Given the description of an element on the screen output the (x, y) to click on. 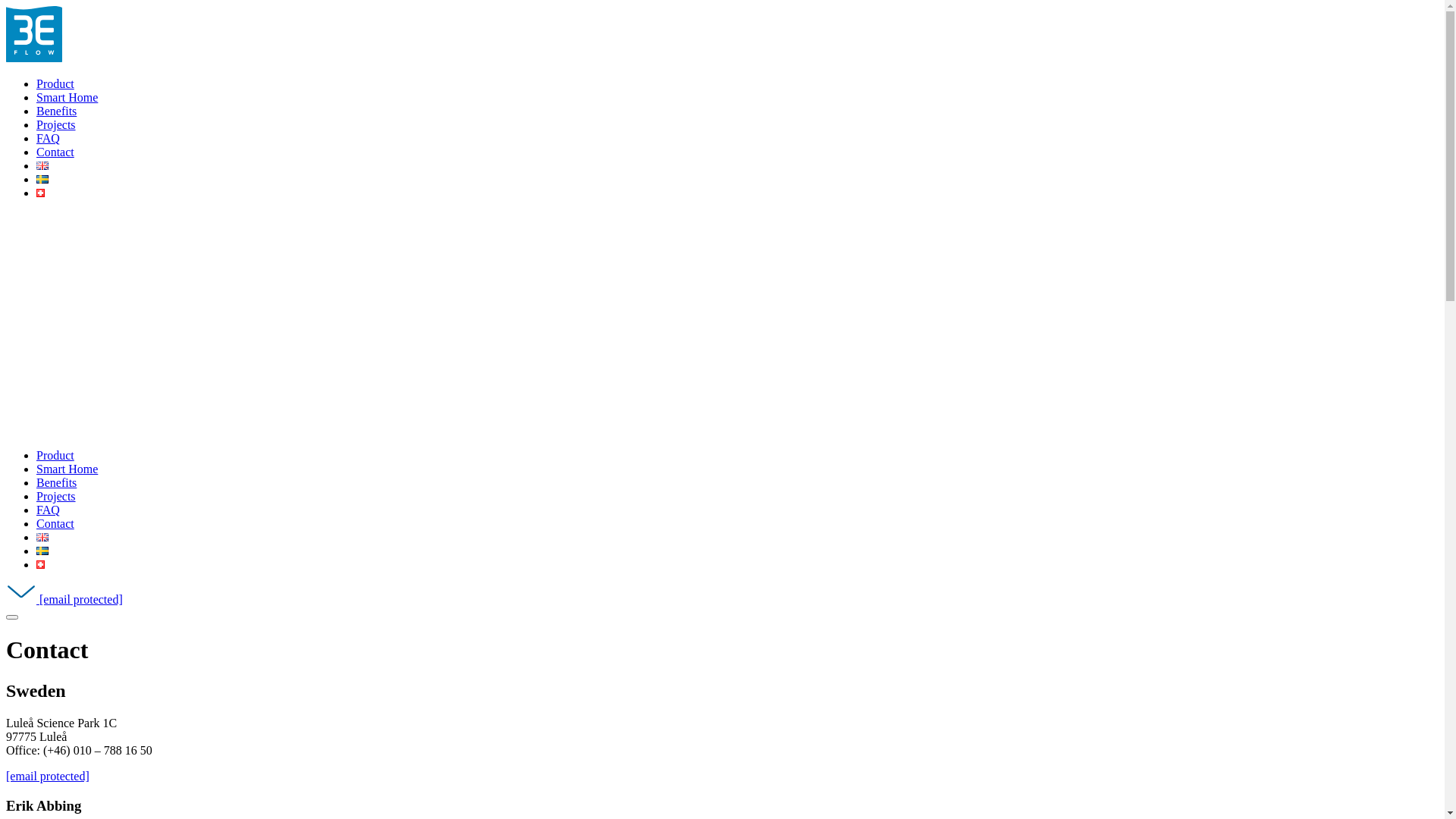
[email protected] Element type: text (47, 775)
Projects Element type: text (55, 124)
FAQ Element type: text (47, 137)
FAQ Element type: text (47, 509)
Smart Home Element type: text (66, 97)
Projects Element type: text (55, 495)
Benefits Element type: text (56, 482)
Product Element type: text (55, 83)
Contact Element type: text (55, 151)
Smart Home Element type: text (66, 468)
Product Element type: text (55, 454)
[email protected] Element type: text (64, 599)
Benefits Element type: text (56, 110)
Contact Element type: text (55, 523)
